Given the description of an element on the screen output the (x, y) to click on. 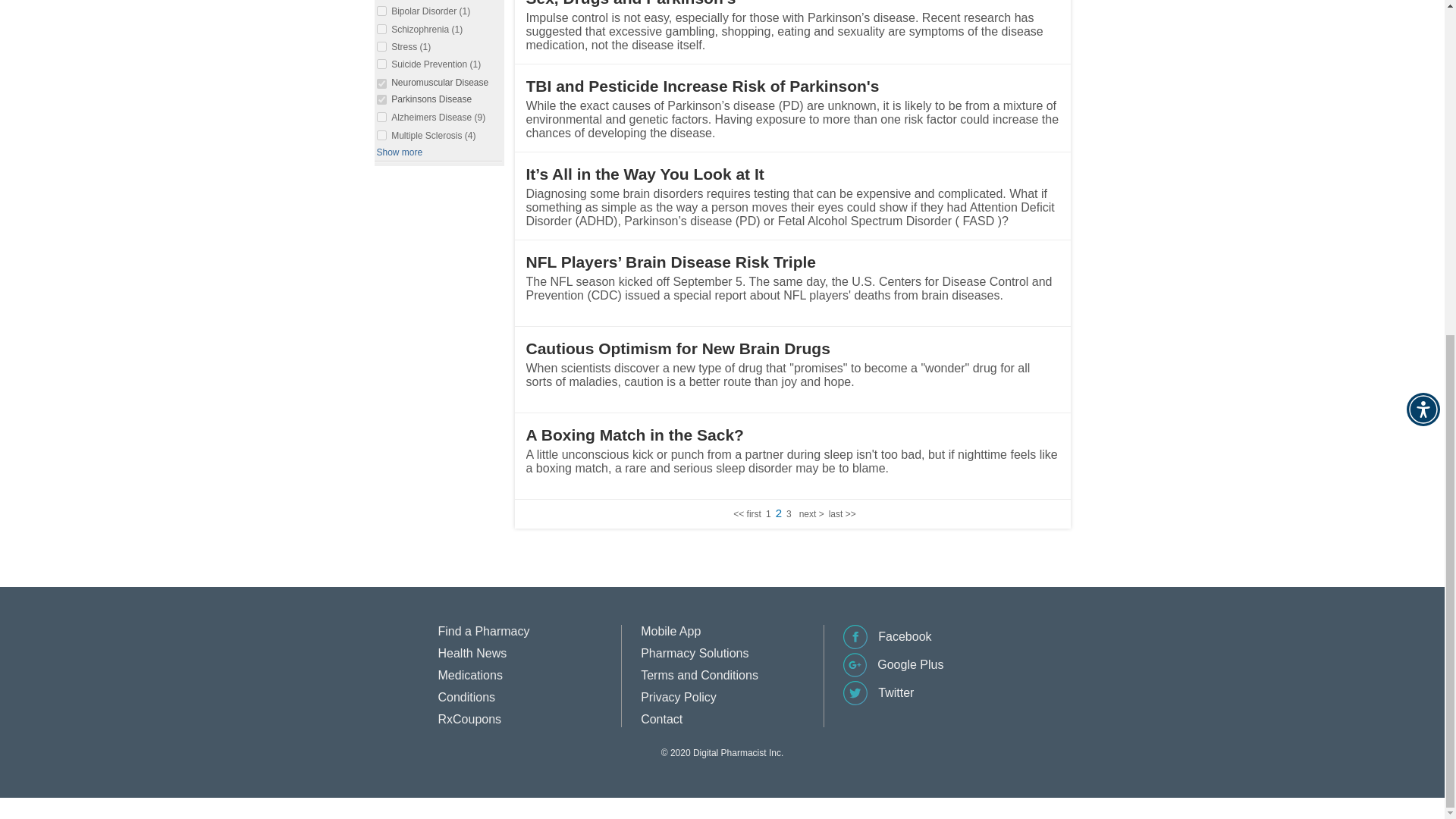
on (380, 29)
1 (768, 513)
3 (789, 513)
on (380, 10)
2 (778, 512)
